Given the description of an element on the screen output the (x, y) to click on. 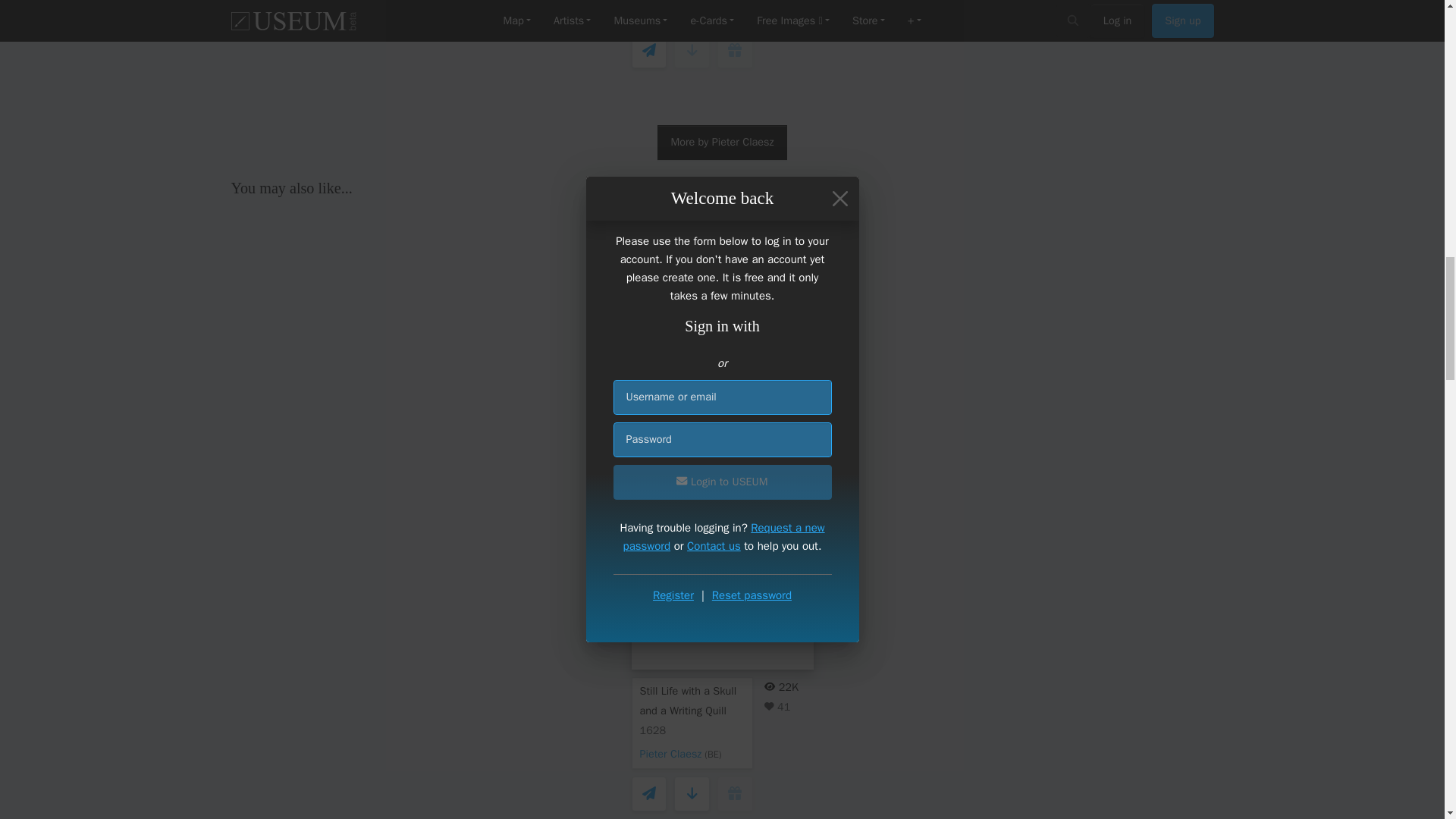
BE (713, 754)
BE (713, 452)
BE (713, 10)
